Given the description of an element on the screen output the (x, y) to click on. 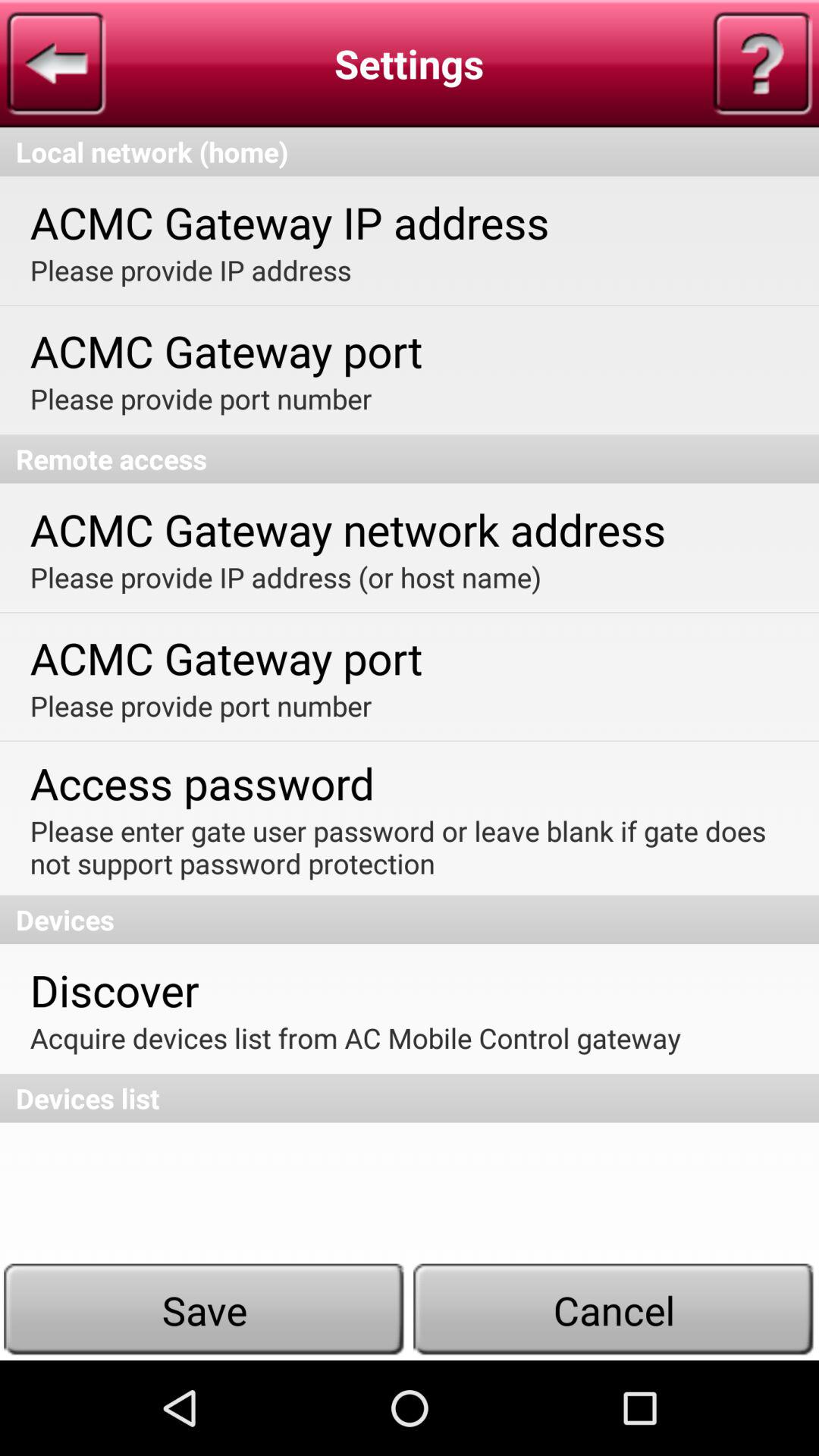
turn off the access password item (202, 782)
